Given the description of an element on the screen output the (x, y) to click on. 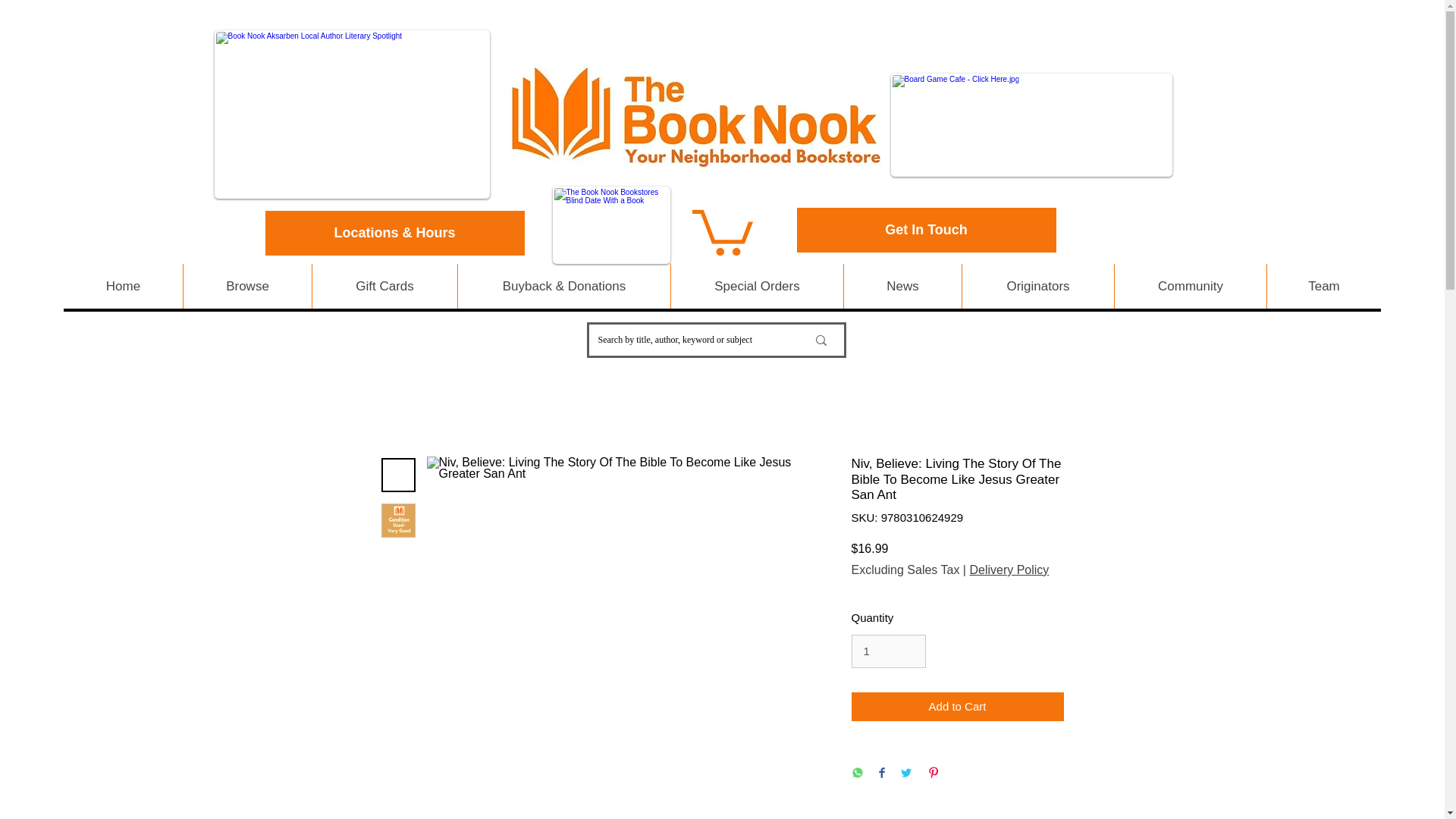
The Book Nook Bookstores Blind Date With a Book (610, 224)
Team (1323, 285)
Delivery Policy (1008, 570)
Community (1189, 285)
Originators (1036, 285)
Gift Cards (384, 285)
Book Nook Aksarben Local Author Literary Spotlight (351, 114)
News (901, 285)
Get In Touch (925, 230)
1 (887, 651)
Special Orders (756, 285)
Add to Cart (956, 706)
Browse (247, 285)
Book Nook Board Game Cafe (1030, 124)
